Given the description of an element on the screen output the (x, y) to click on. 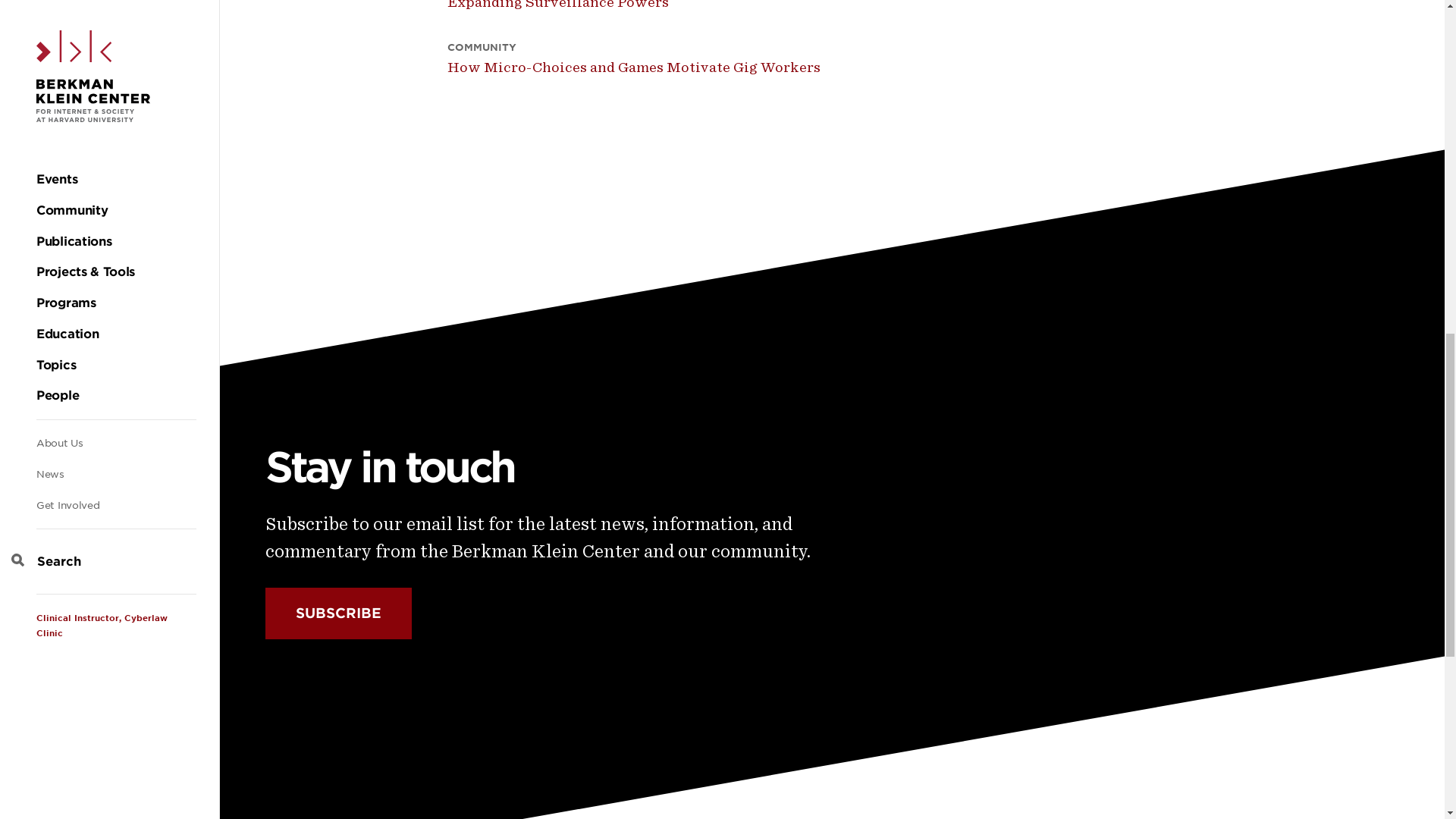
SUBSCRIBE (338, 613)
How Micro-Choices and Games Motivate Gig Workers (659, 67)
